Given the description of an element on the screen output the (x, y) to click on. 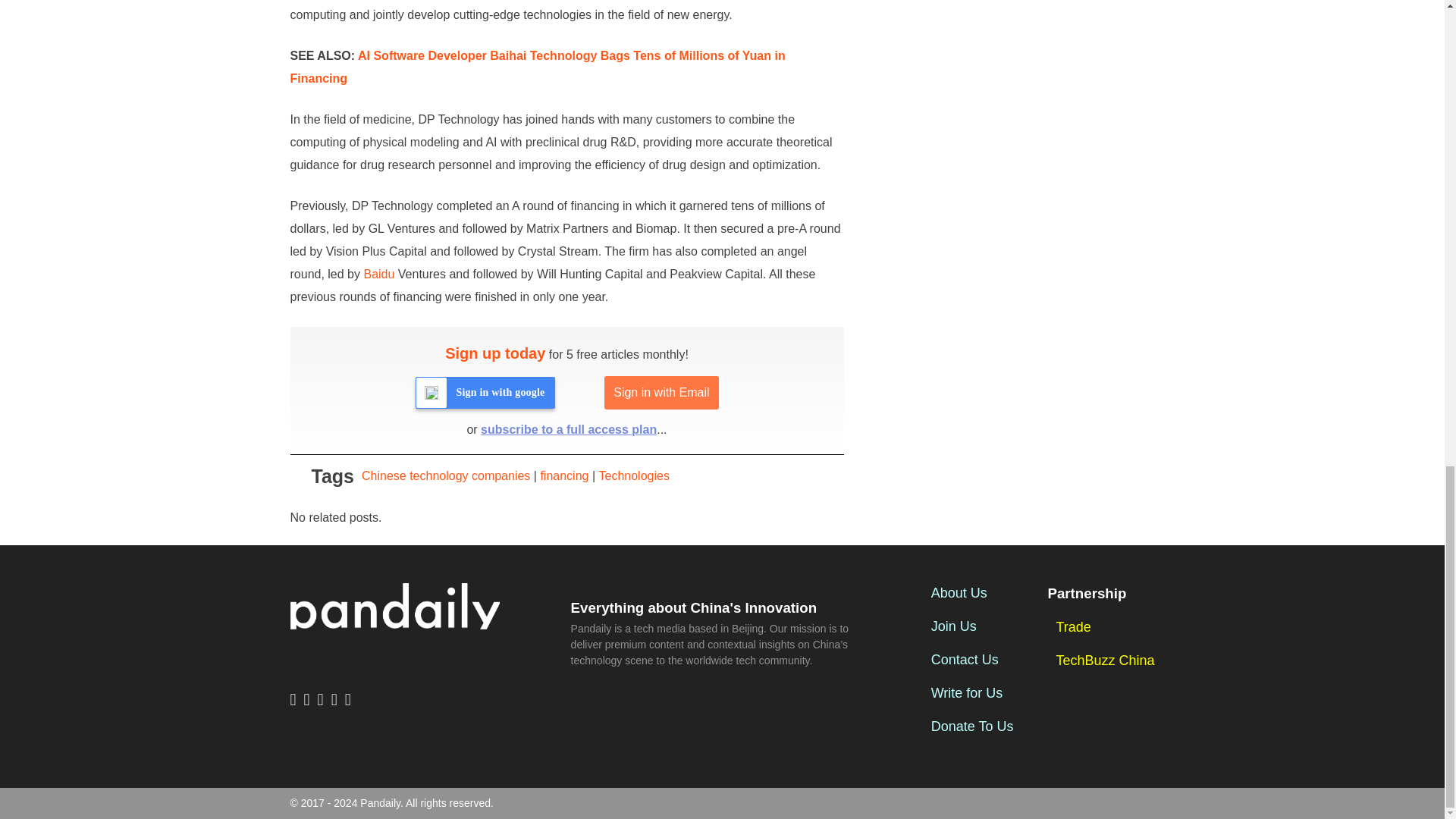
n in Financing (536, 67)
Baidu (378, 273)
Sign in with Email (660, 392)
